Given the description of an element on the screen output the (x, y) to click on. 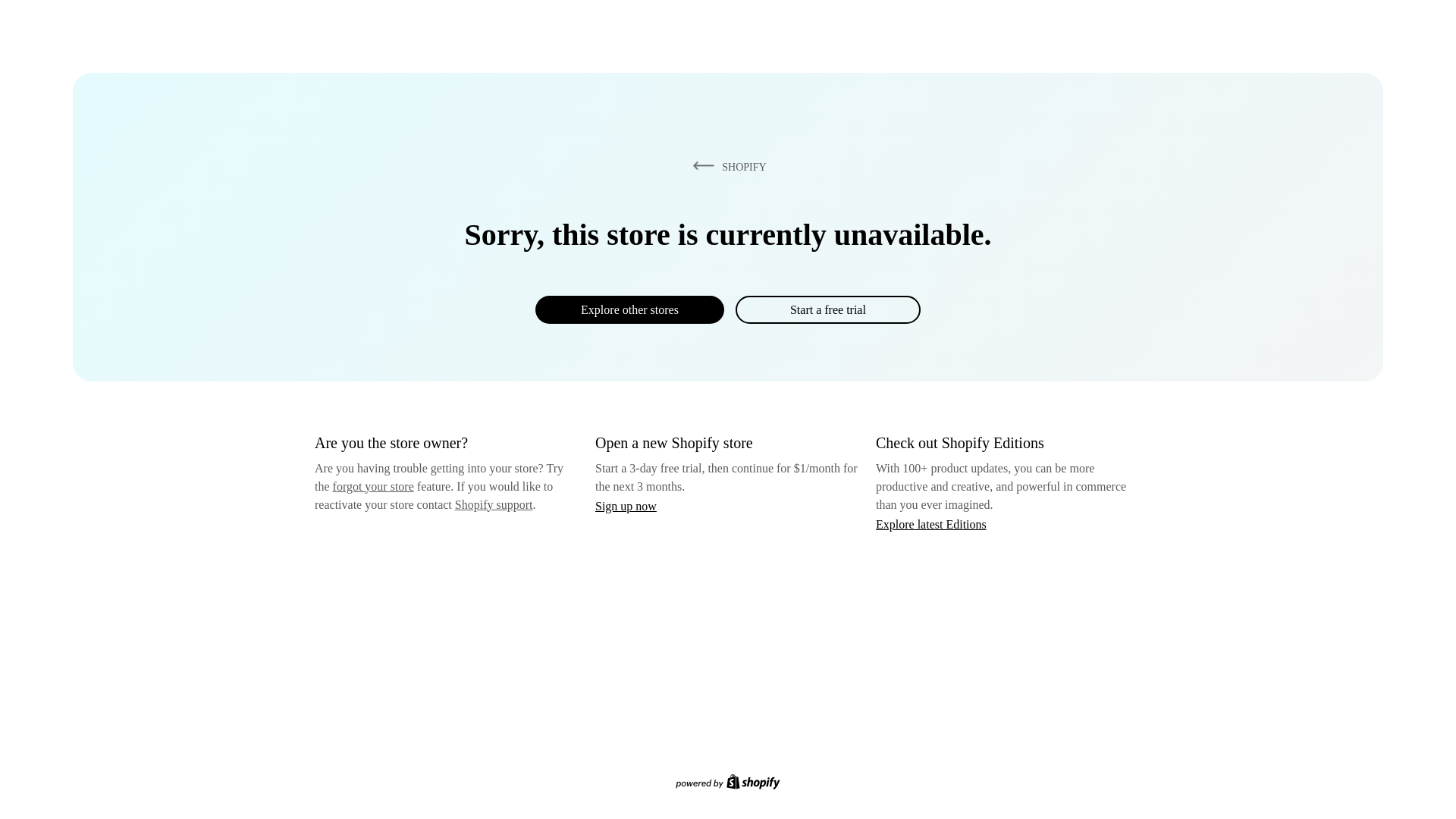
Explore latest Editions (931, 523)
Start a free trial (827, 309)
Shopify support (493, 504)
SHOPIFY (726, 166)
forgot your store (373, 486)
Explore other stores (629, 309)
Sign up now (625, 505)
